Given the description of an element on the screen output the (x, y) to click on. 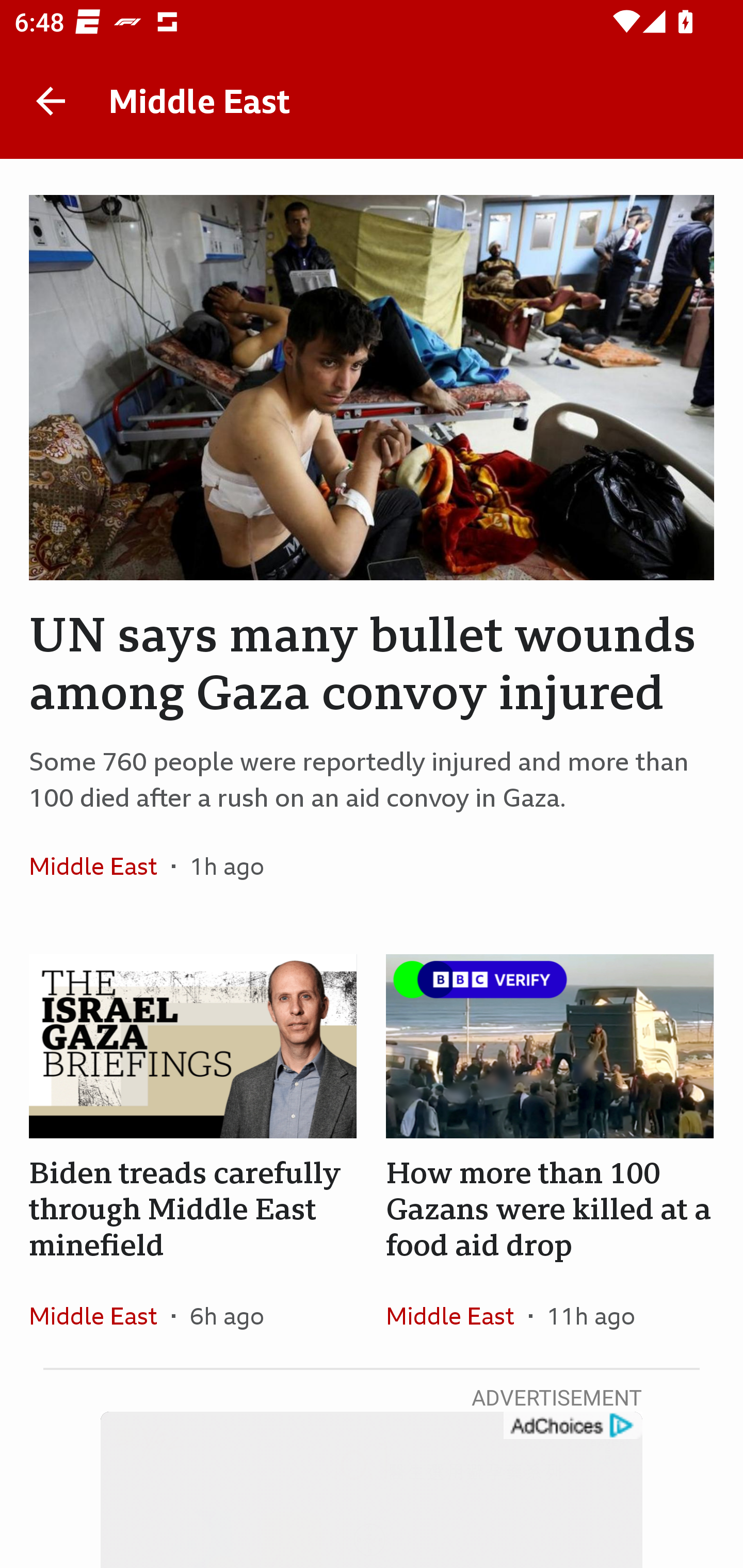
Back (50, 101)
Middle East In the section Middle East (99, 865)
Middle East In the section Middle East (99, 1315)
Middle East In the section Middle East (457, 1315)
Video Player get?name=admarker-full-tl   (371, 1489)
get?name=admarker-full-tl (571, 1425)
